Given the description of an element on the screen output the (x, y) to click on. 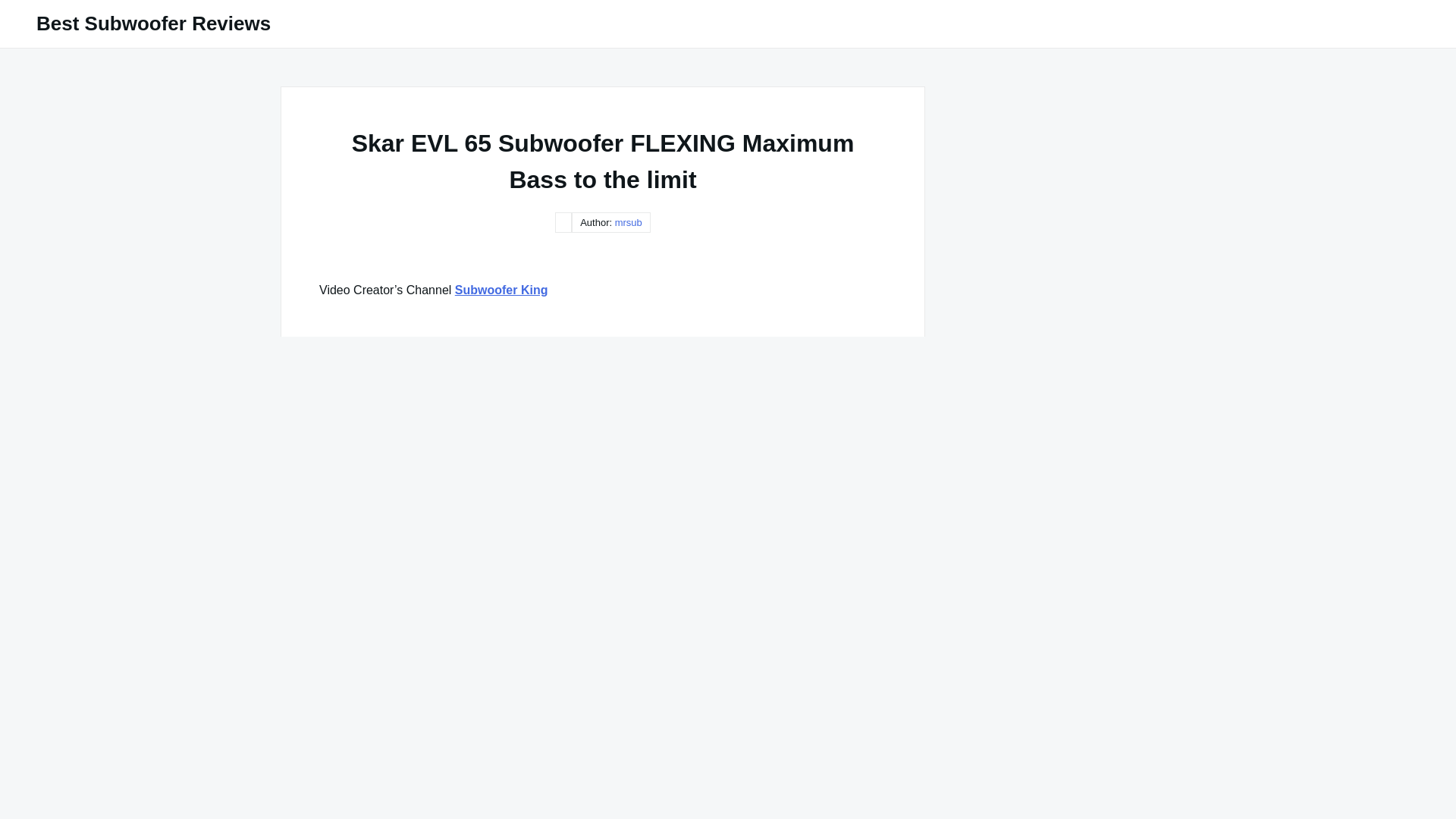
Posts by mrsub (628, 222)
Best Subwoofer Reviews (153, 23)
mrsub (628, 222)
Subwoofer King (501, 289)
